Given the description of an element on the screen output the (x, y) to click on. 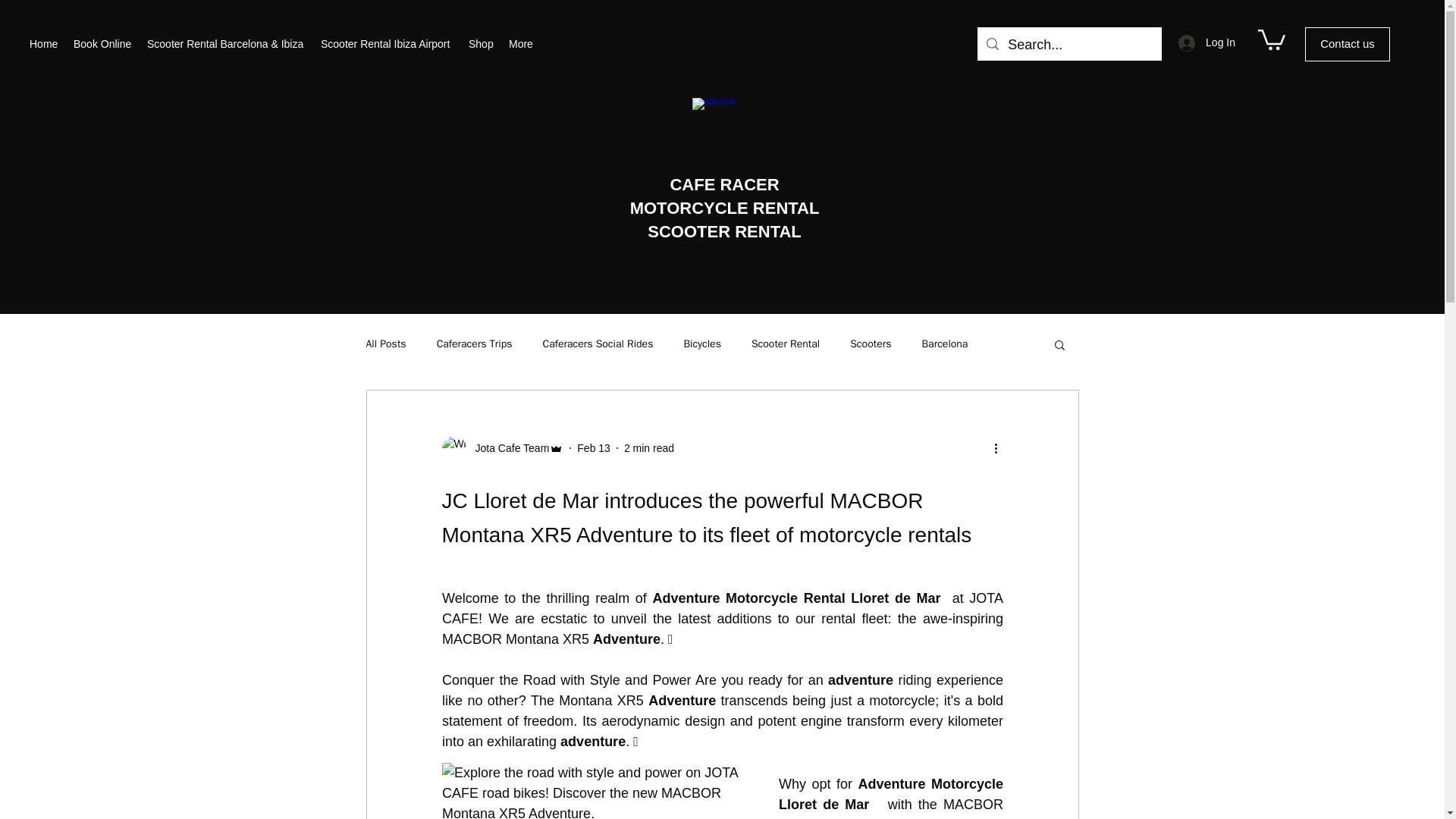
Contact us (1347, 44)
Bicycles (701, 344)
Barcelona (944, 344)
Home (43, 44)
Caferacers Social Rides (596, 344)
Jota Cafe Team (506, 448)
Shop (480, 44)
Scooter Rental Ibiza Airport (387, 44)
Feb 13 (593, 448)
